Given the description of an element on the screen output the (x, y) to click on. 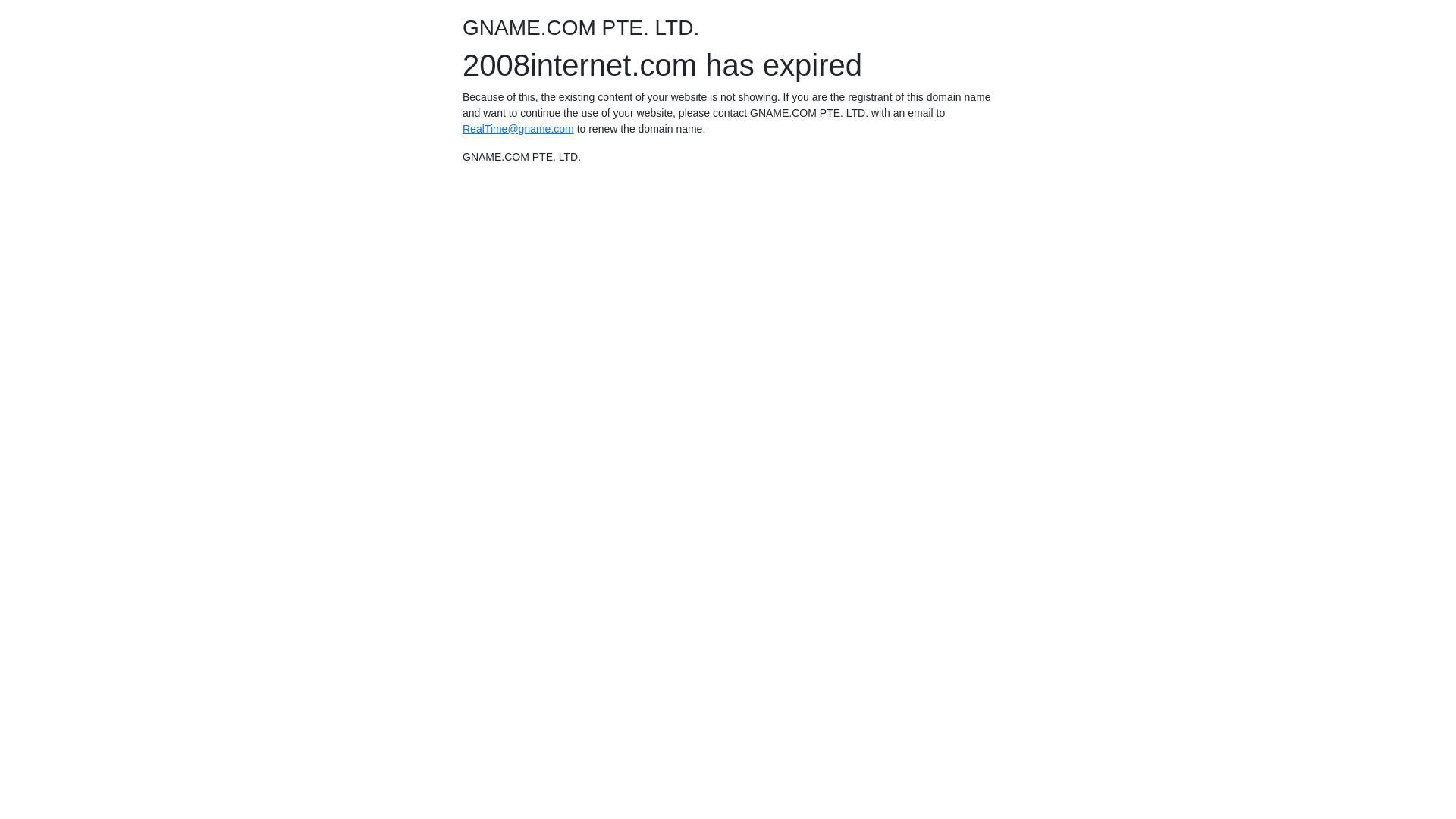
RealTime@gname.com Element type: text (518, 128)
